Given the description of an element on the screen output the (x, y) to click on. 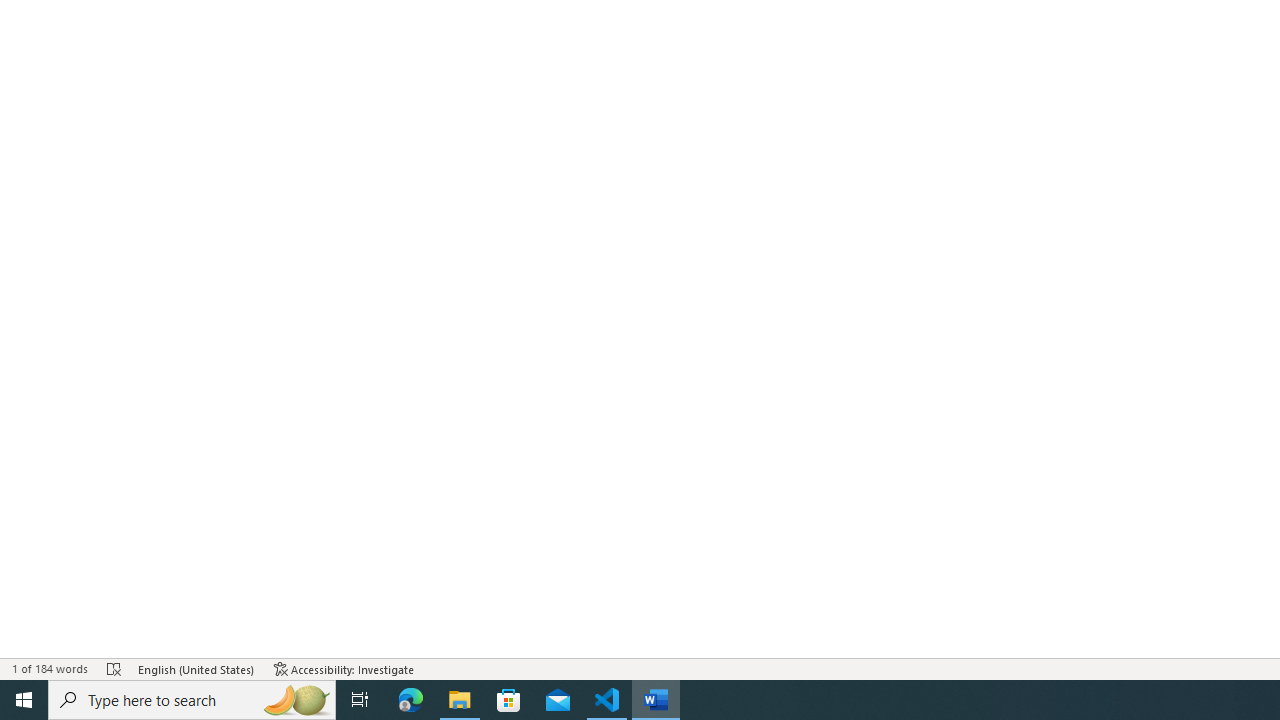
Spelling and Grammar Check Errors (114, 668)
Language English (United States) (196, 668)
Word Count 1 of 184 words (49, 668)
Accessibility Checker Accessibility: Investigate (344, 668)
